Given the description of an element on the screen output the (x, y) to click on. 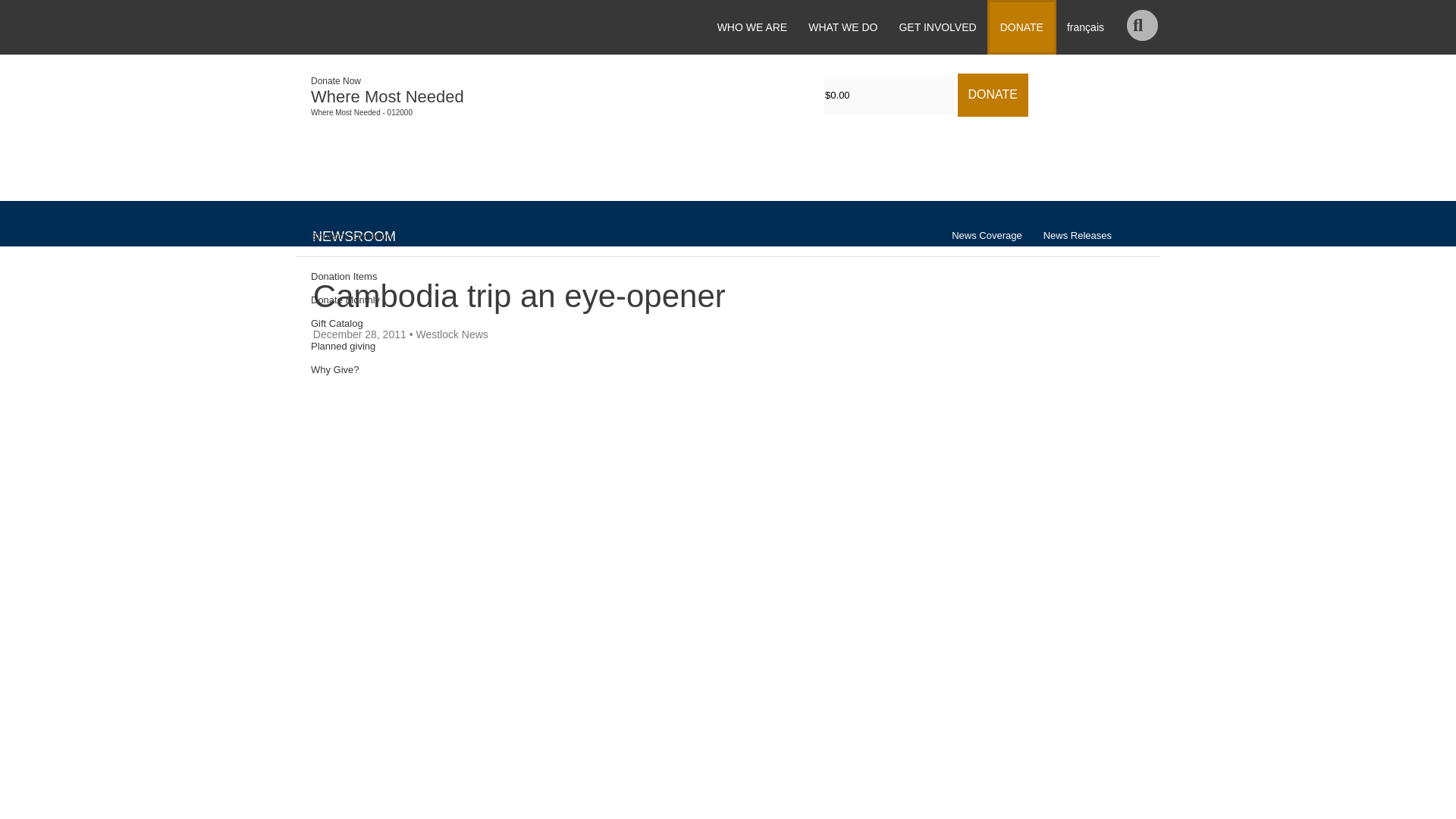
WHO WE ARE (751, 27)
GET INVOLVED (937, 27)
WHAT WE DO (842, 27)
DONATE (1022, 27)
